Given the description of an element on the screen output the (x, y) to click on. 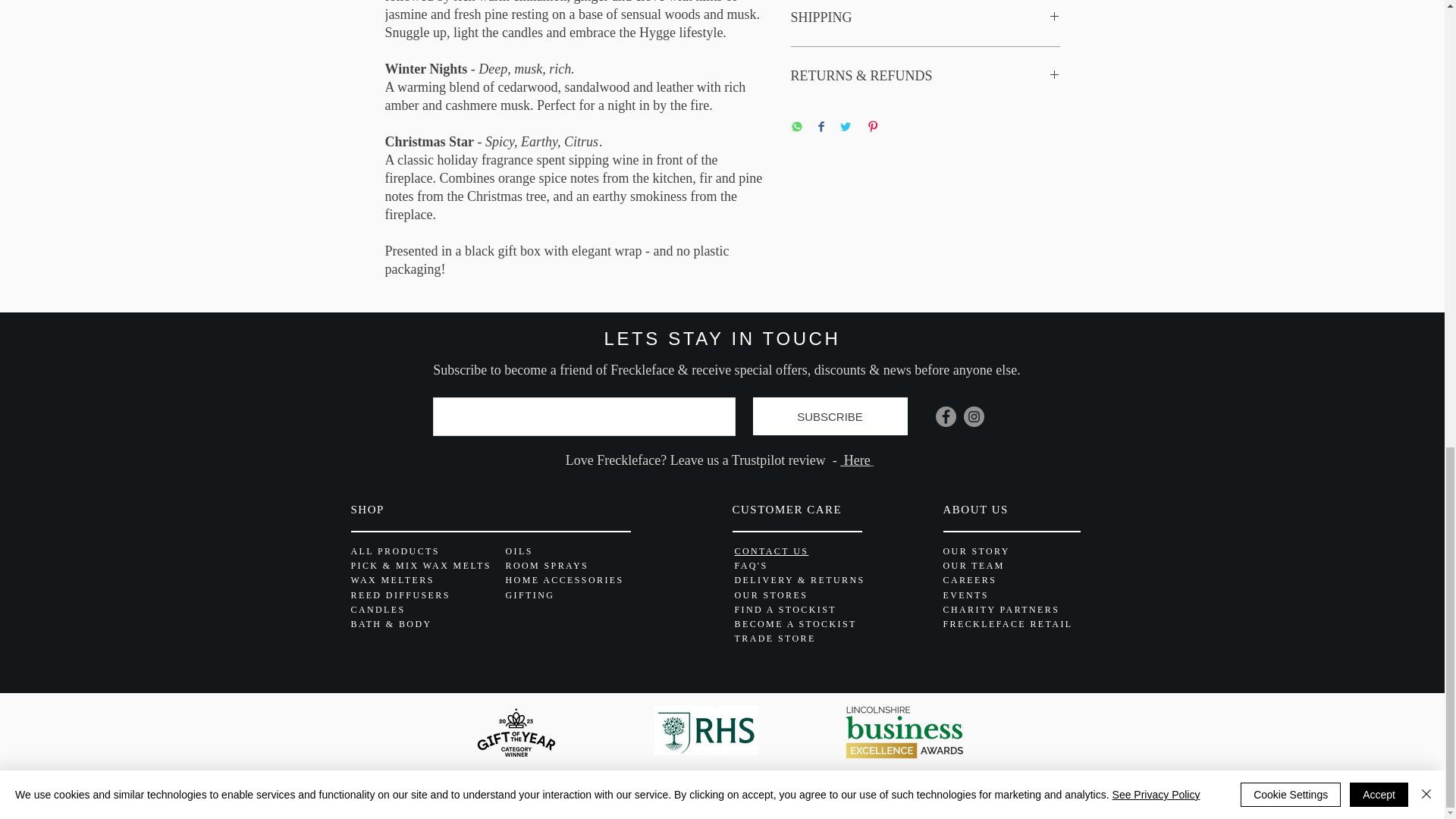
SHIPPING (924, 17)
Winner.png (515, 730)
